Given the description of an element on the screen output the (x, y) to click on. 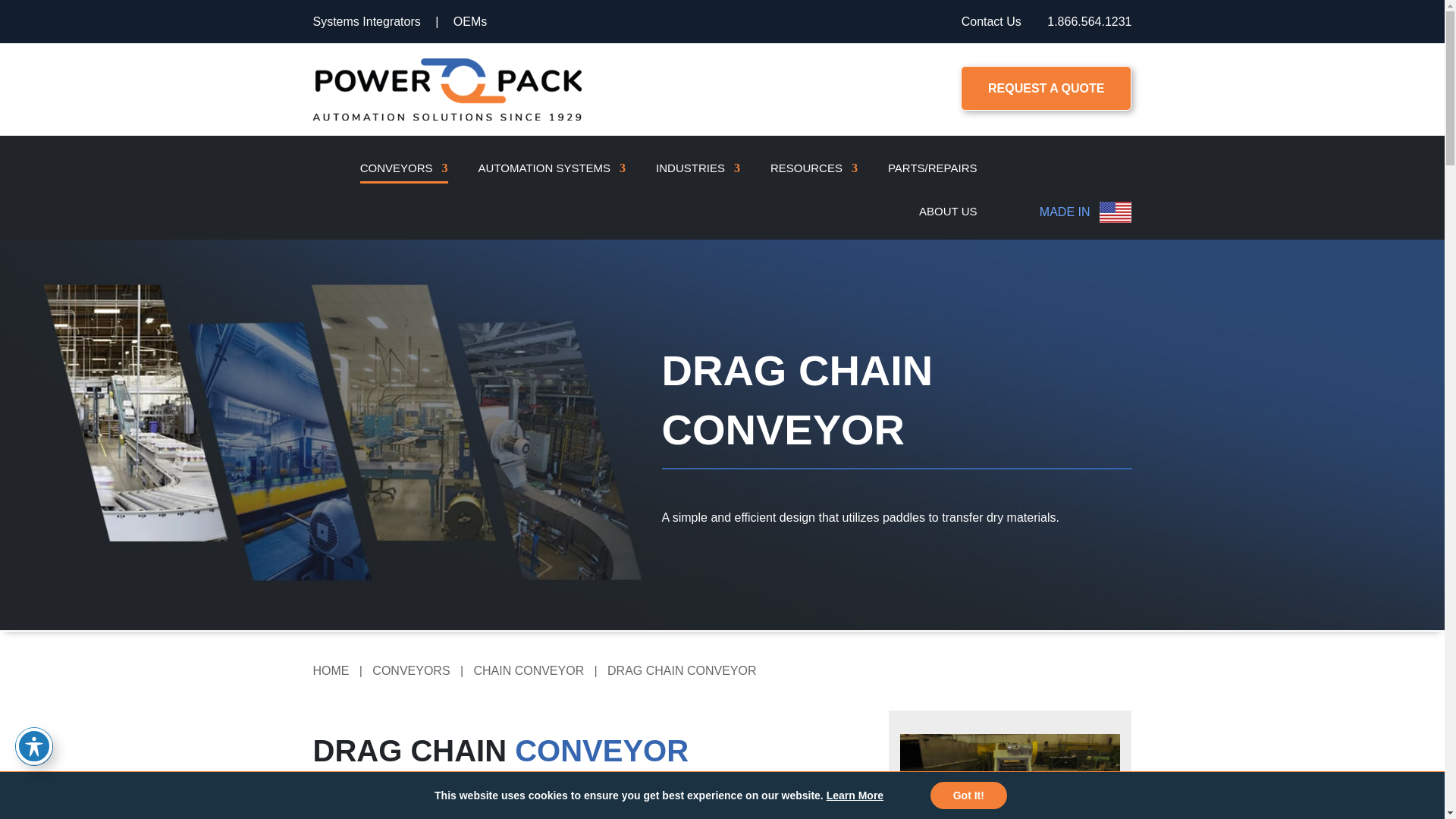
1.866.564.1231 (1088, 21)
REQUEST A QUOTE (1046, 88)
Systems Integrators (366, 21)
OEMs (469, 21)
Contact Us (991, 21)
CONVEYORS (403, 165)
